Given the description of an element on the screen output the (x, y) to click on. 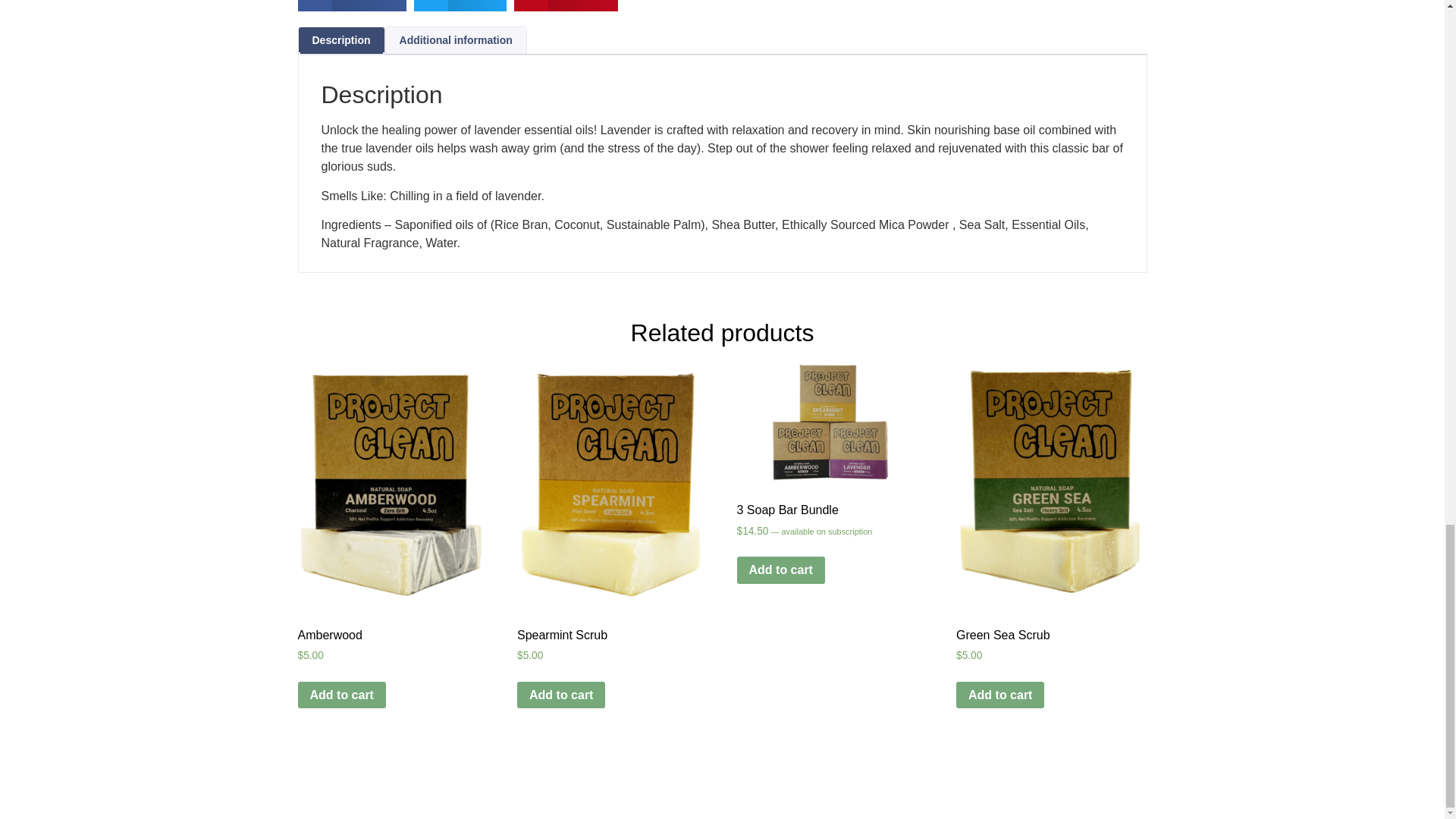
Description (341, 40)
Add to cart (780, 569)
Add to cart (560, 695)
Additional information (455, 40)
Add to cart (999, 695)
Add to cart (341, 695)
